Given the description of an element on the screen output the (x, y) to click on. 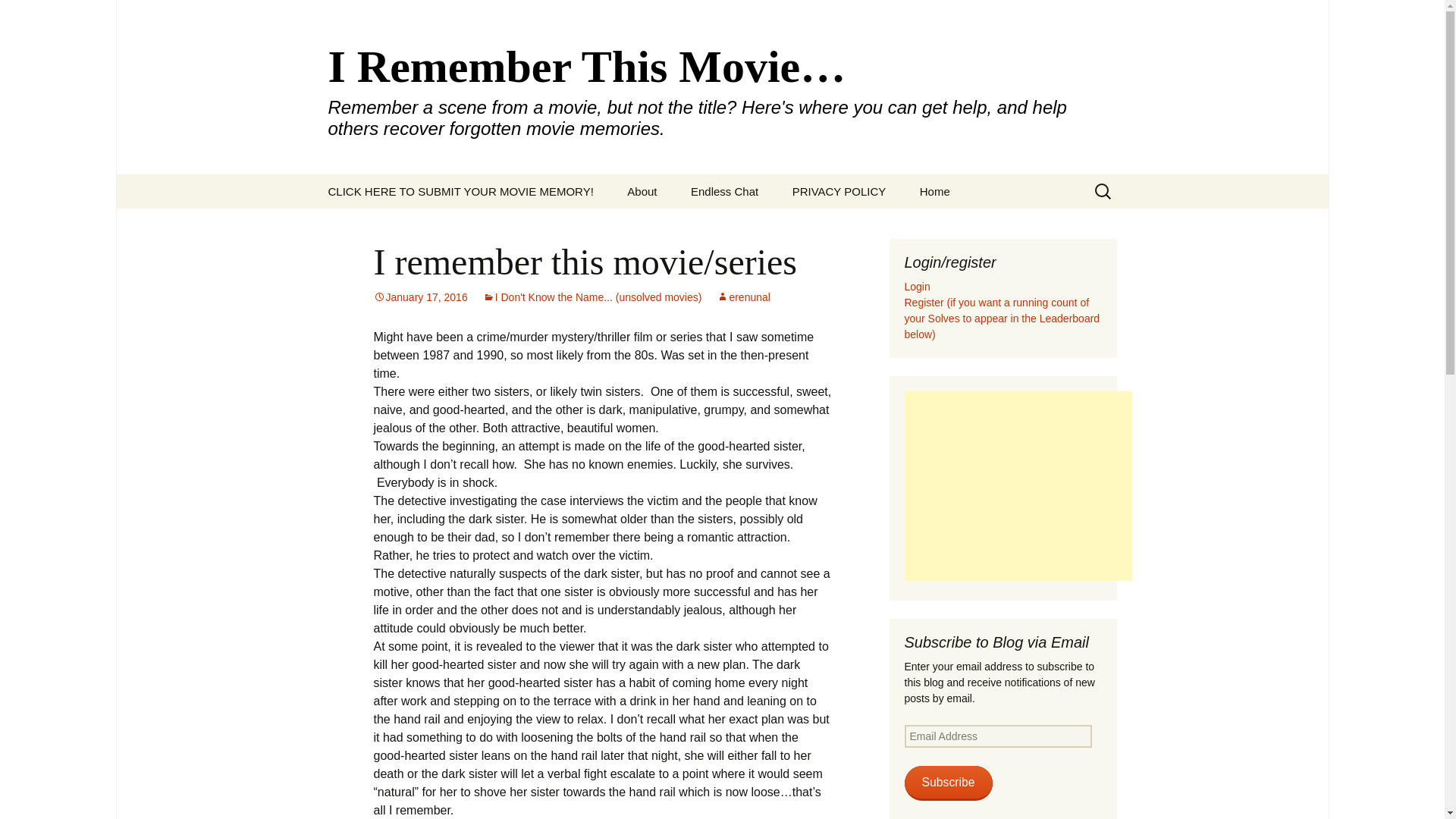
PRIVACY POLICY (839, 191)
View all posts by erenunal (743, 297)
Login (917, 286)
January 17, 2016 (419, 297)
Subscribe (947, 782)
erenunal (743, 297)
CLICK HERE TO SUBMIT YOUR MOVIE MEMORY! (460, 191)
Home (934, 191)
About (641, 191)
